Given the description of an element on the screen output the (x, y) to click on. 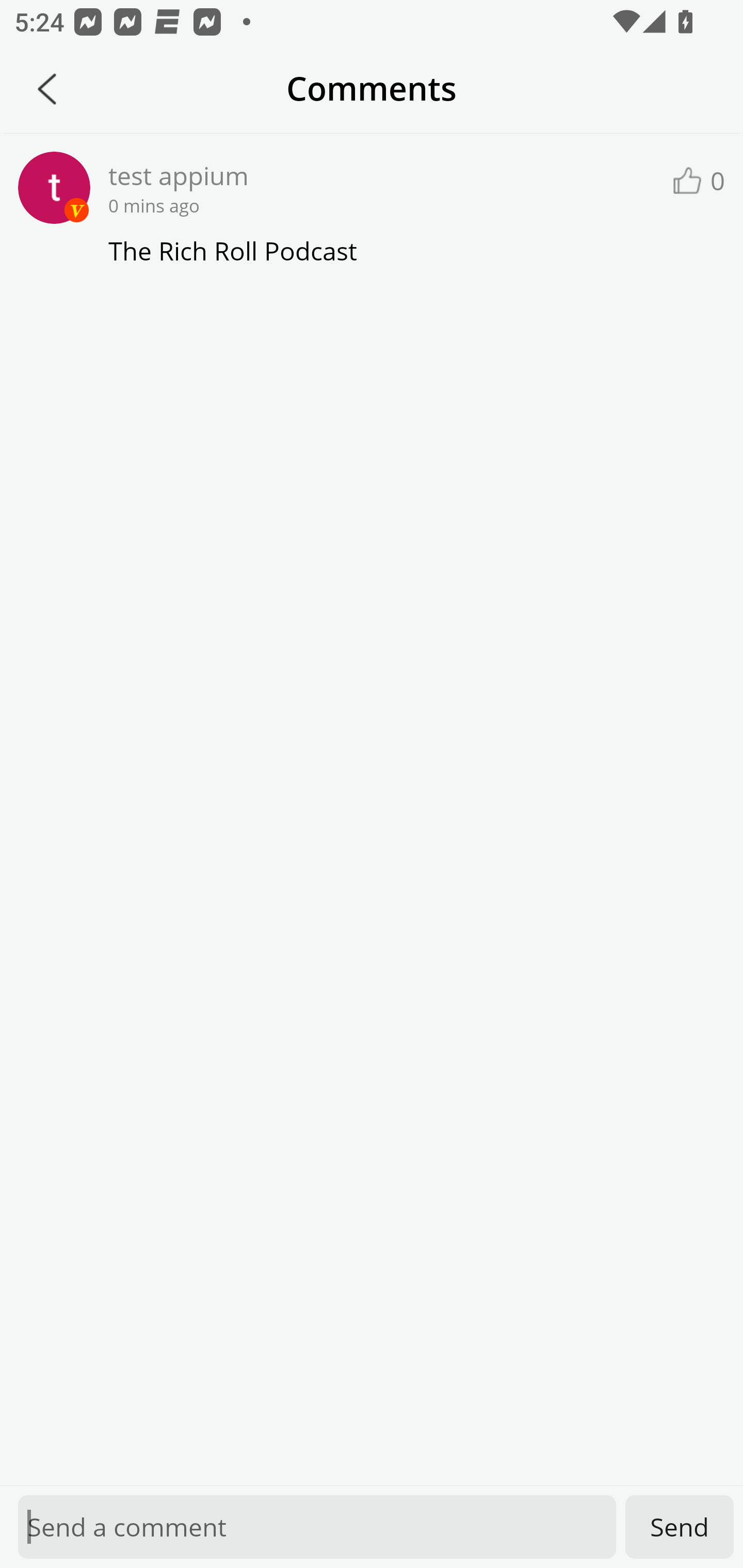
Back (46, 88)
Send a comment (316, 1526)
Send (679, 1526)
